Given the description of an element on the screen output the (x, y) to click on. 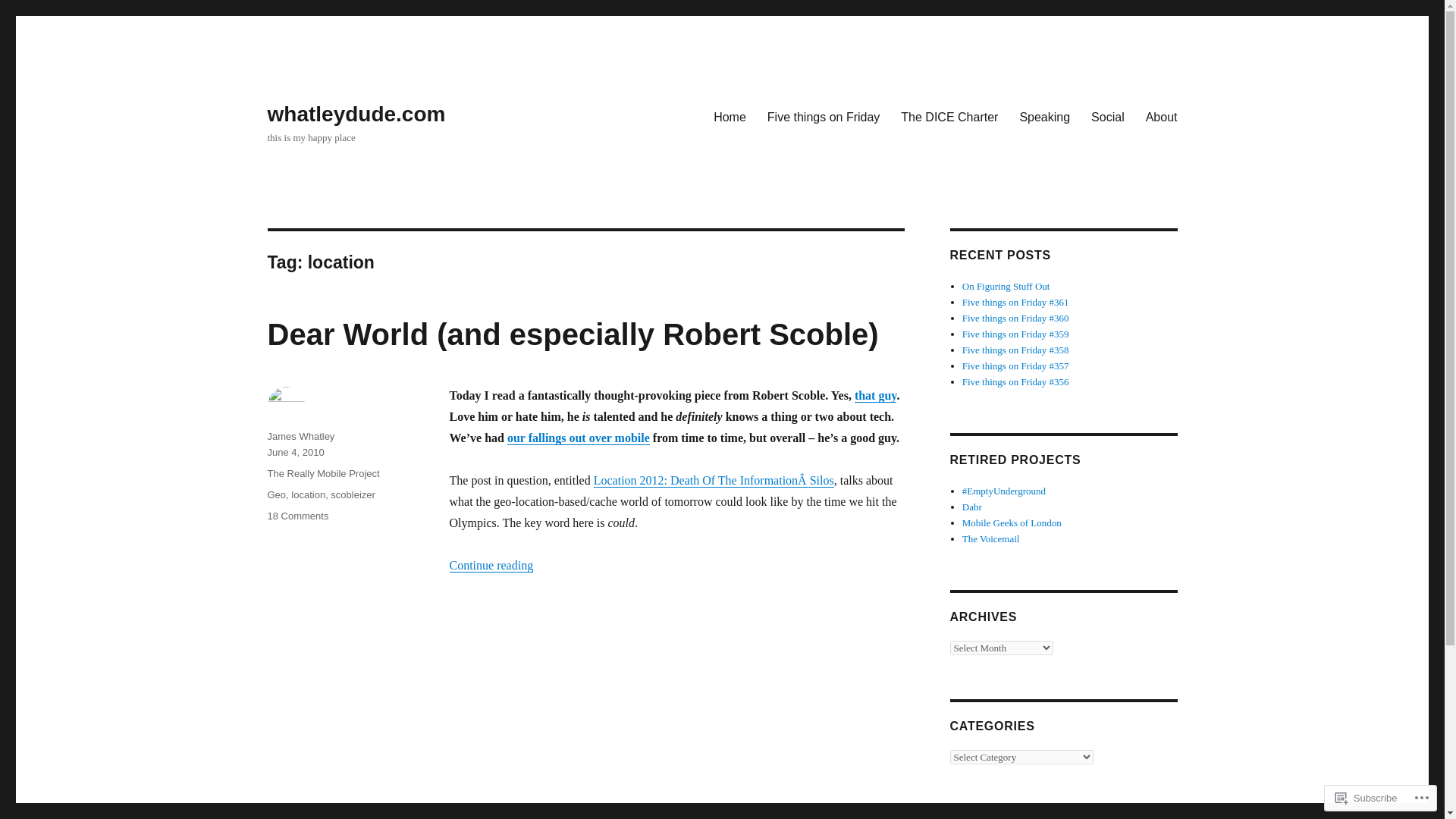
scobleizer (352, 494)
Geo (275, 494)
June 4, 2010 (294, 451)
Social (1107, 116)
James Whatley (300, 436)
The Voicemail (991, 538)
The DICE Charter (949, 116)
that guy (875, 395)
About (1161, 116)
Continue reading (490, 564)
whatleydude.com (355, 114)
On Figuring Stuff Out (1005, 285)
The Really Mobile Project (322, 473)
Mobile Geeks of London (1011, 522)
Dabr (971, 506)
